Given the description of an element on the screen output the (x, y) to click on. 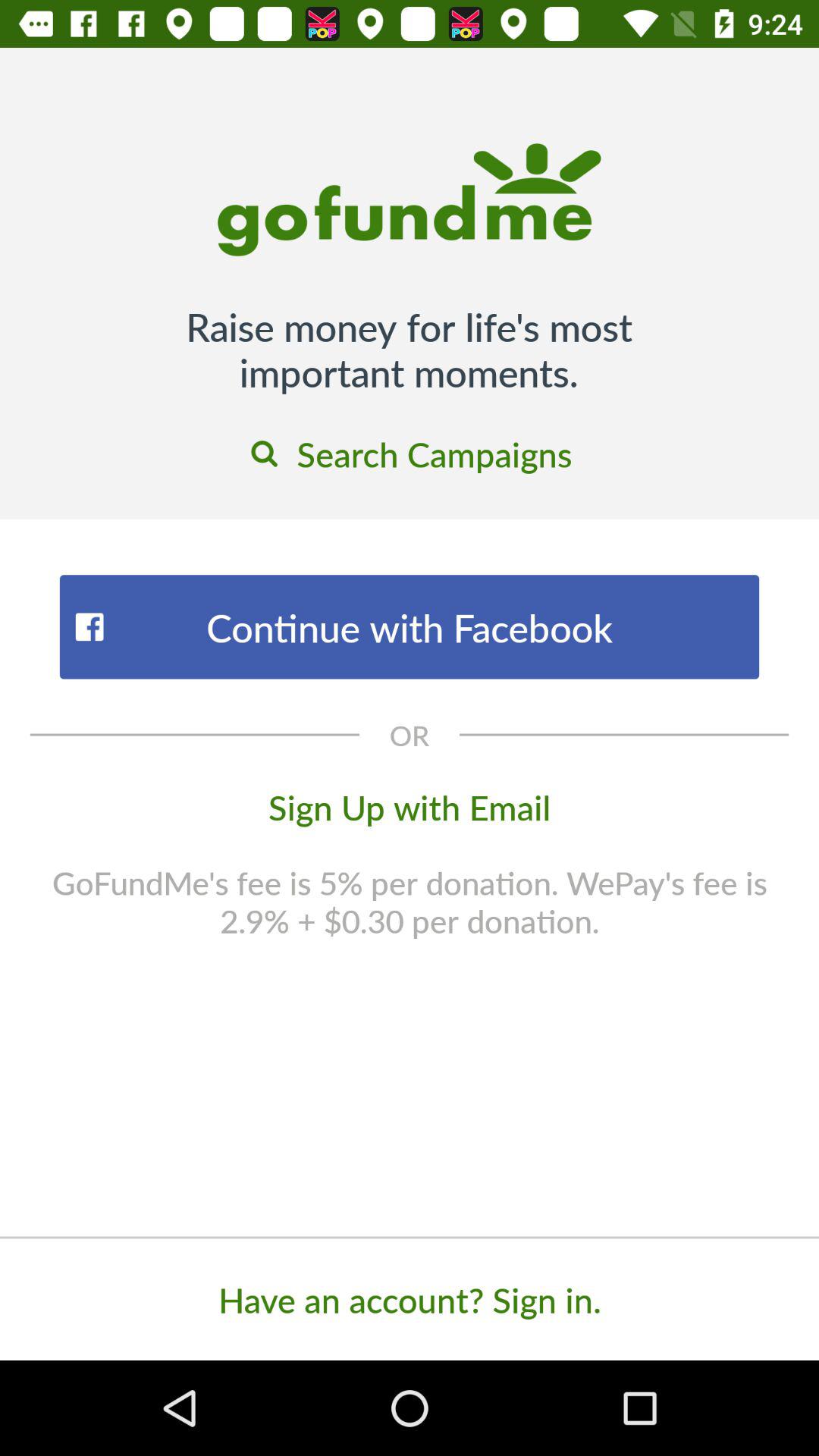
click continue with facebook (409, 627)
